Given the description of an element on the screen output the (x, y) to click on. 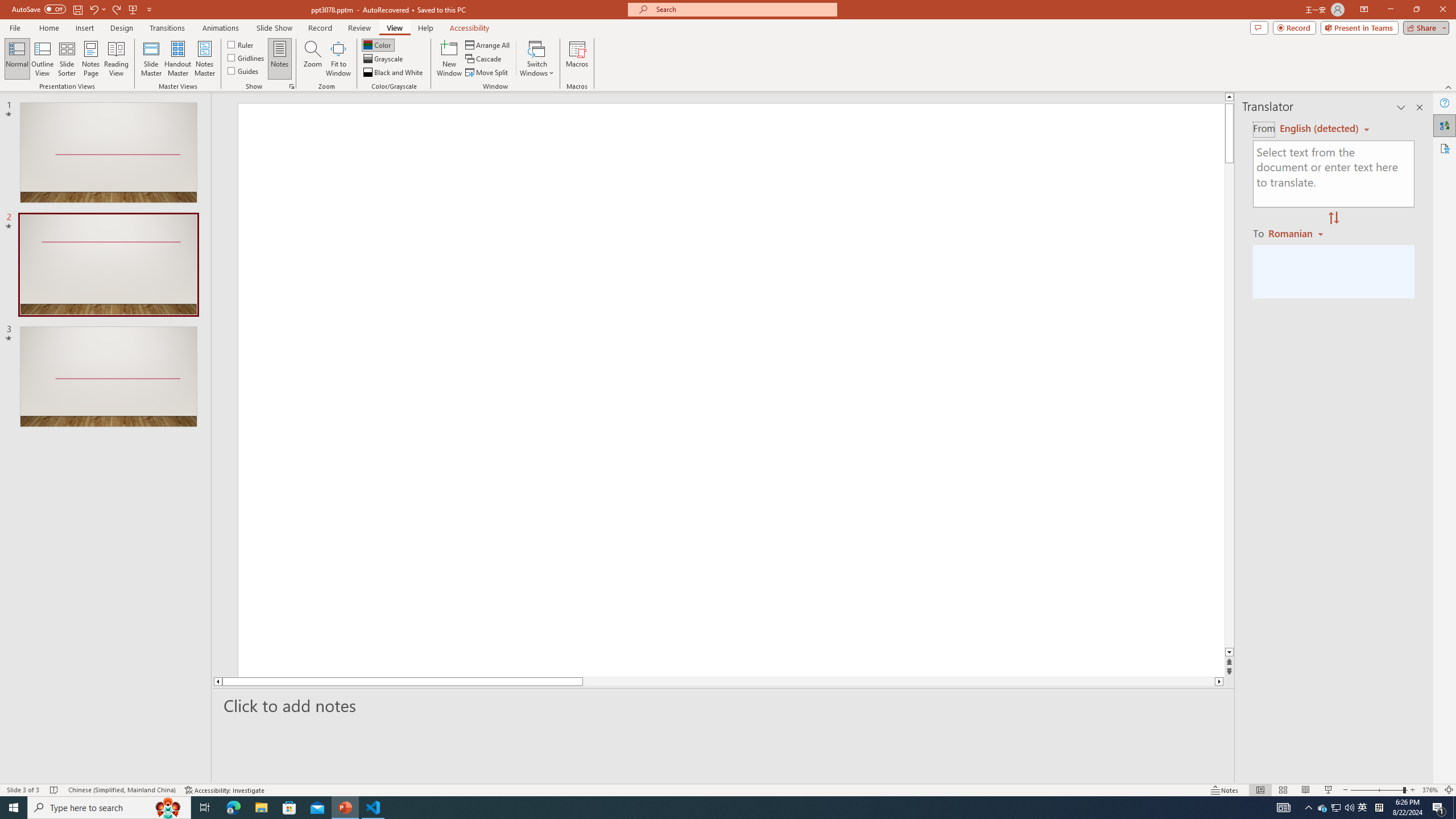
Ruler (241, 44)
Move Split (487, 72)
Guides (243, 69)
Switch Windows (537, 58)
Arrange All (488, 44)
Fit to Window (338, 58)
Romanian (1296, 232)
